Given the description of an element on the screen output the (x, y) to click on. 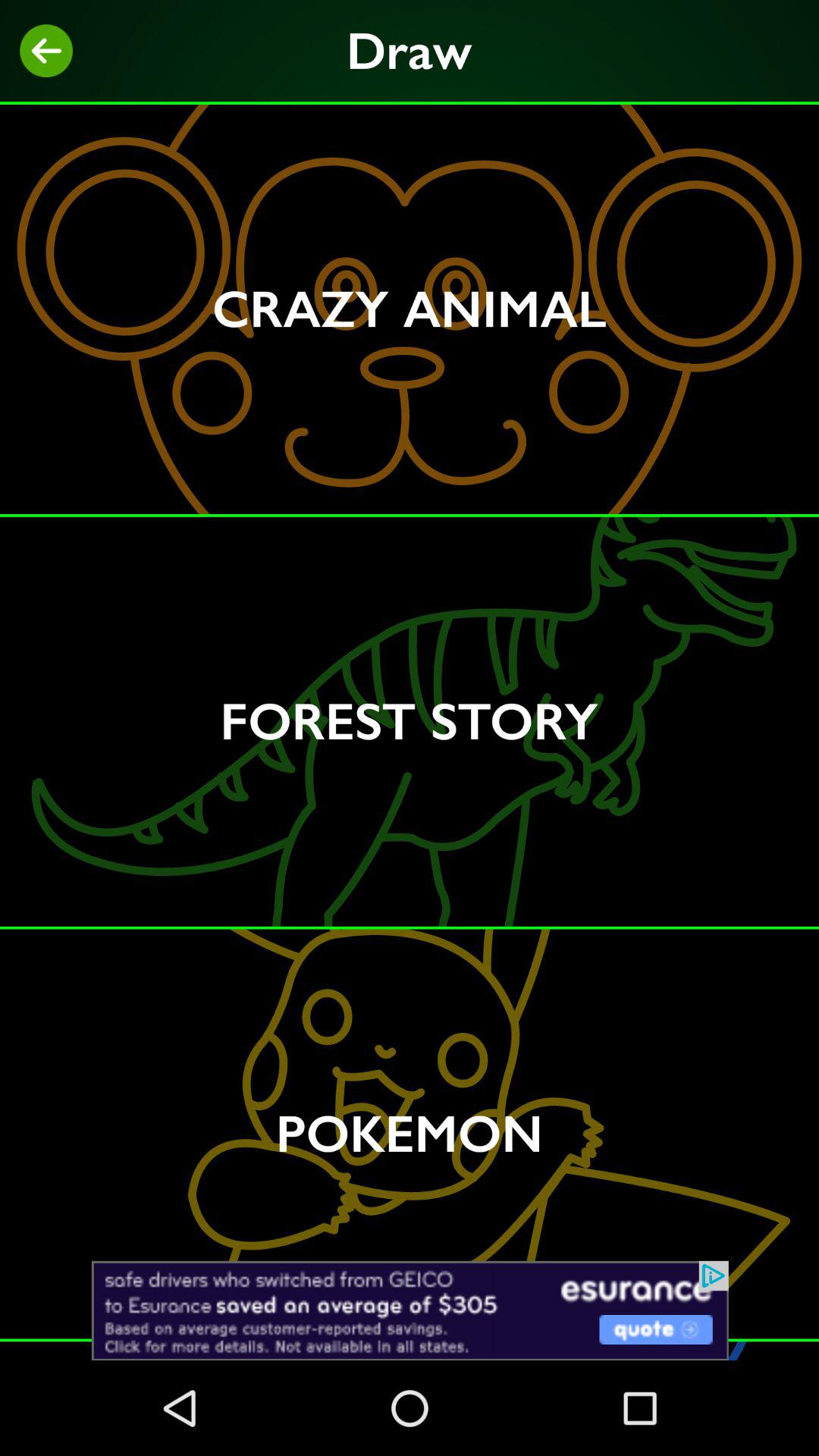
go back to previous (46, 50)
